Given the description of an element on the screen output the (x, y) to click on. 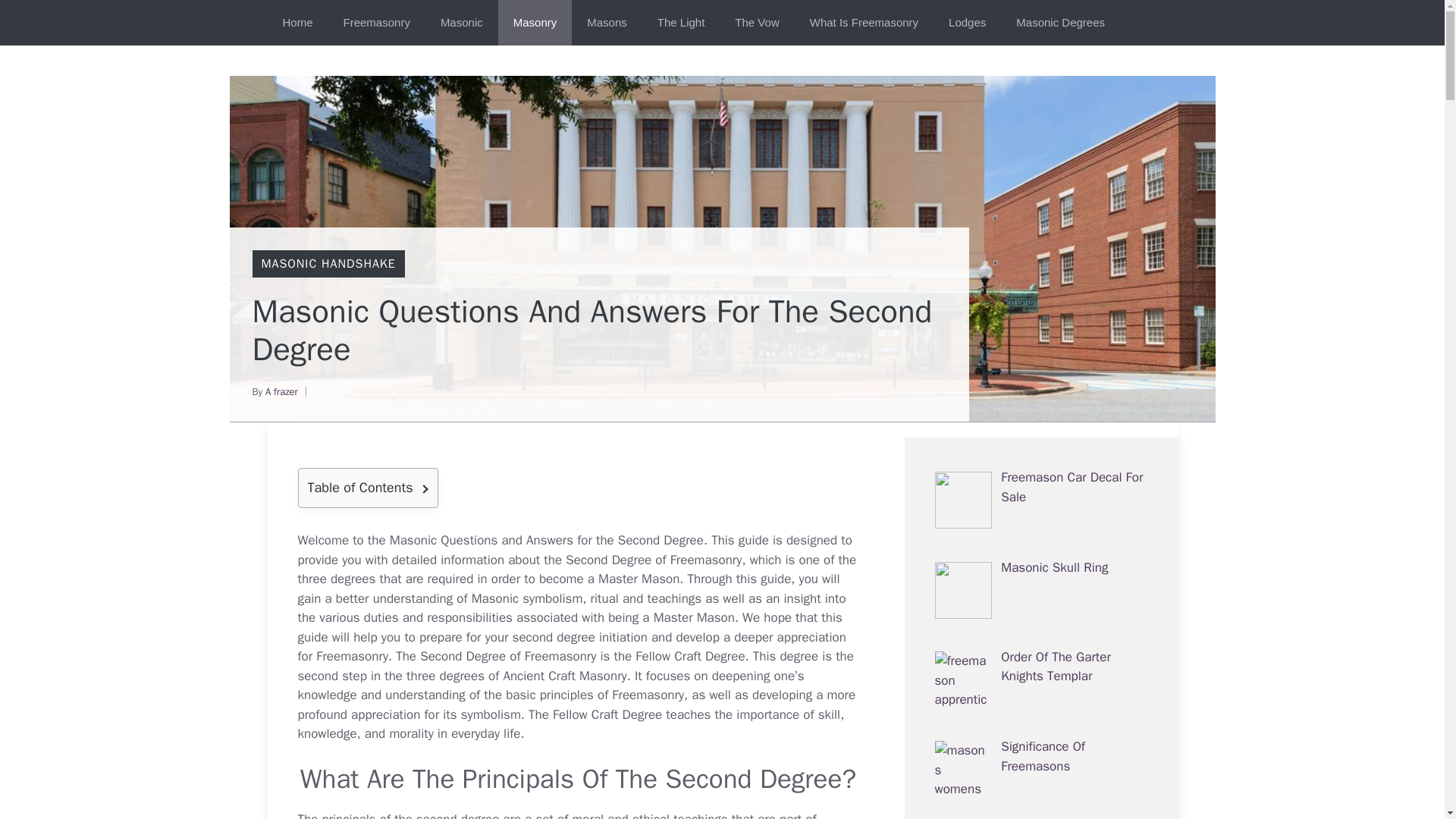
Masonry (534, 22)
Freemasonry (647, 694)
Freemasonry (647, 694)
MASONIC HANDSHAKE (327, 263)
Freemasonry (377, 22)
The Light (681, 22)
Masons (607, 22)
A frazer (281, 391)
Home (296, 22)
The Vow (756, 22)
Masonic Degrees (1060, 22)
Masonic (461, 22)
Craft Masonry (587, 675)
What Is Freemasonry (863, 22)
Craft Masonry (587, 675)
